Given the description of an element on the screen output the (x, y) to click on. 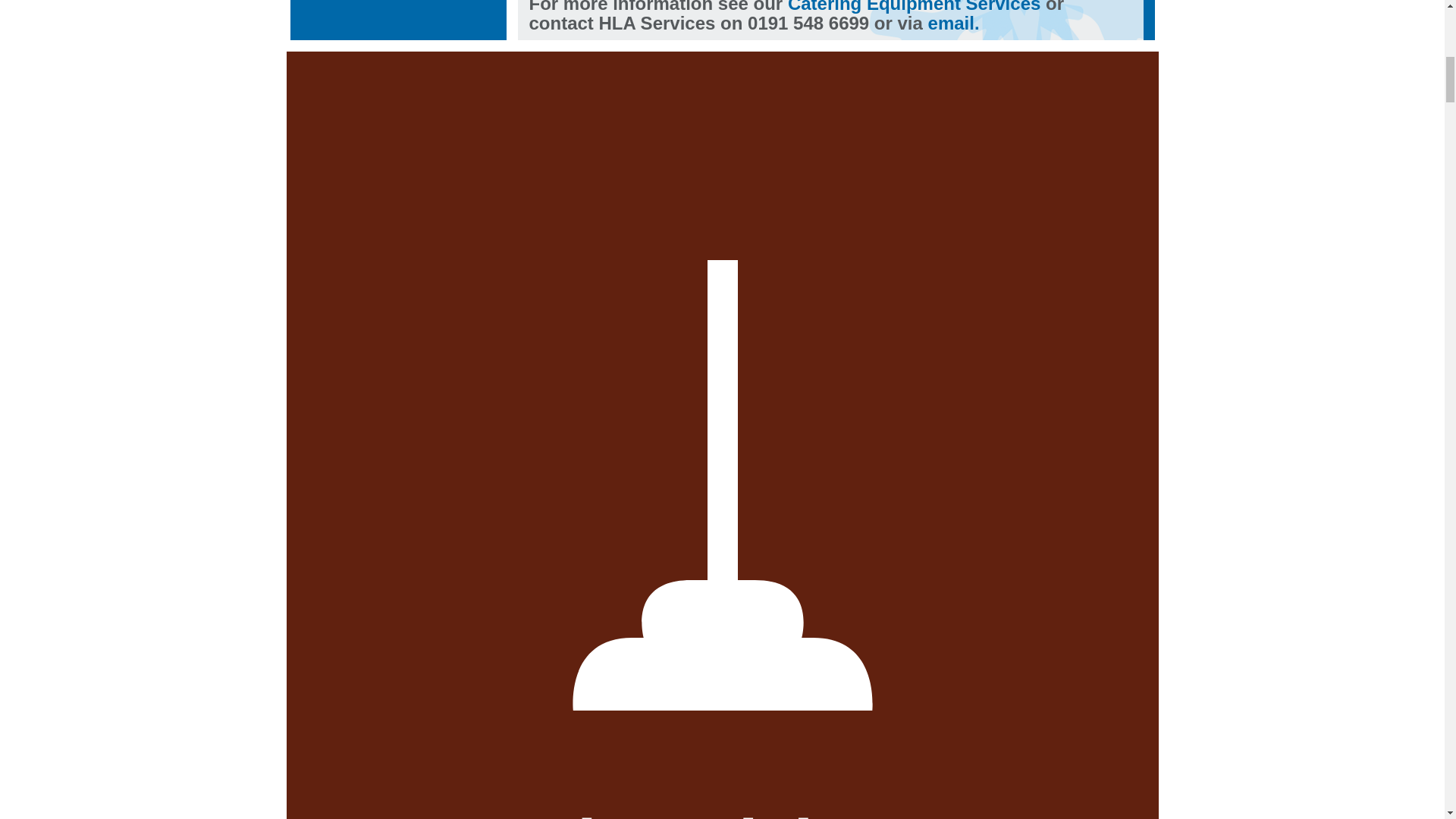
email. (953, 23)
Plumbing (722, 486)
Catering Equipment Services (914, 6)
